Given the description of an element on the screen output the (x, y) to click on. 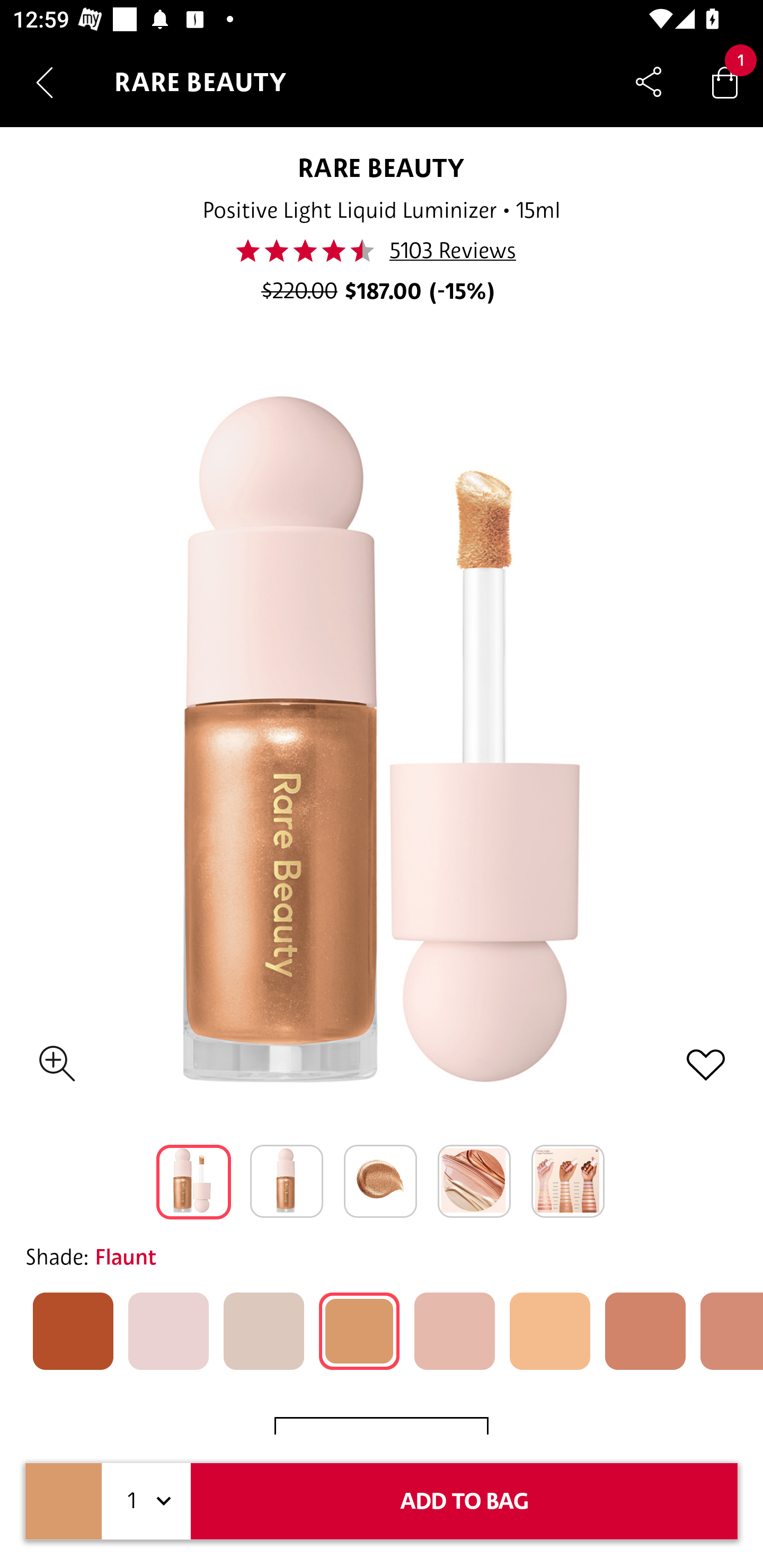
Navigate up (44, 82)
Share (648, 81)
Bag (724, 81)
RARE BEAUTY (381, 167)
45.0 5103 Reviews (380, 250)
1 (145, 1500)
ADD TO BAG (463, 1500)
